Given the description of an element on the screen output the (x, y) to click on. 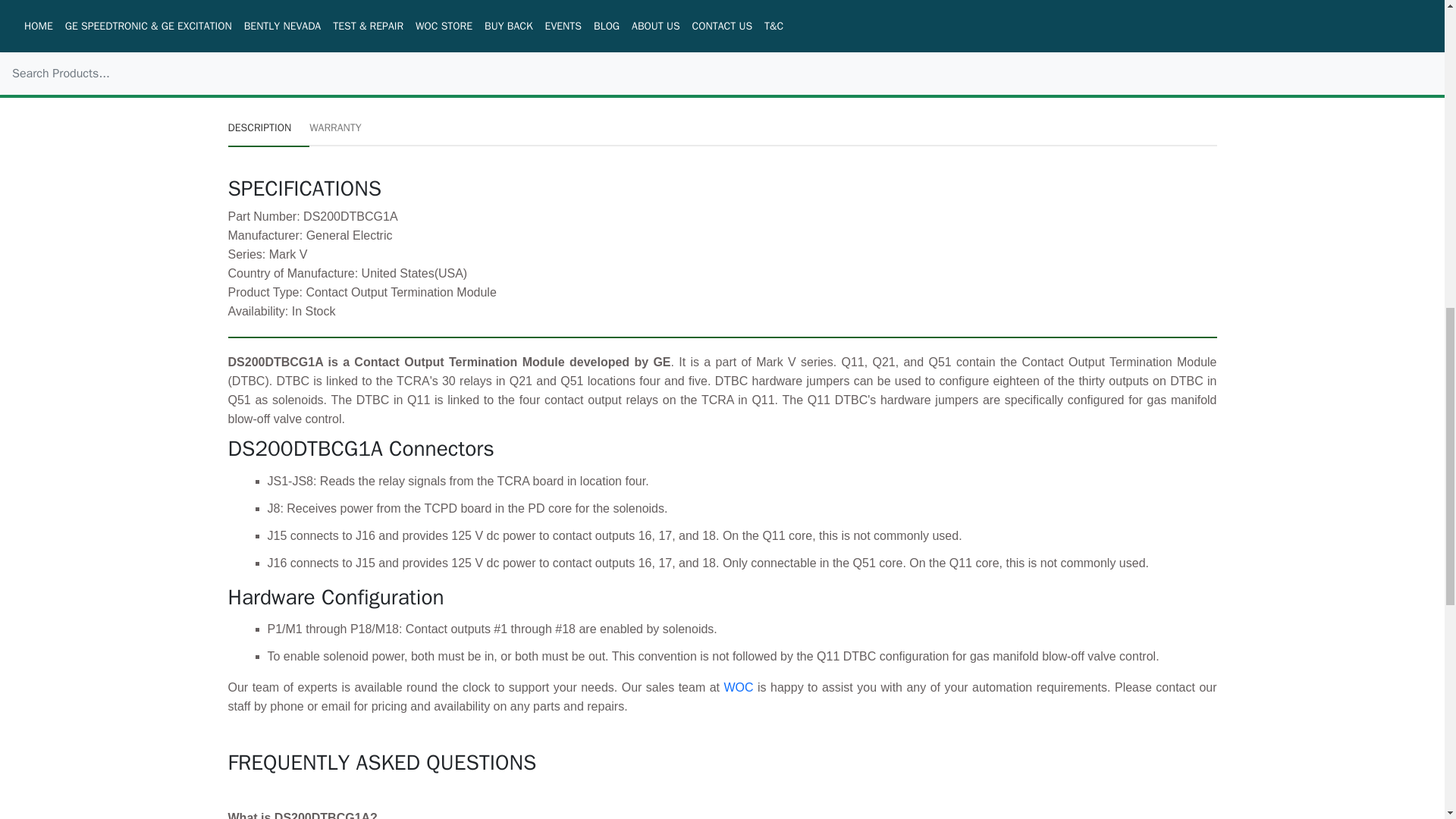
DESCRIPTION (267, 127)
WARRANTY (334, 127)
DS200ACNAAG1A (607, 16)
WOC (740, 686)
